Given the description of an element on the screen output the (x, y) to click on. 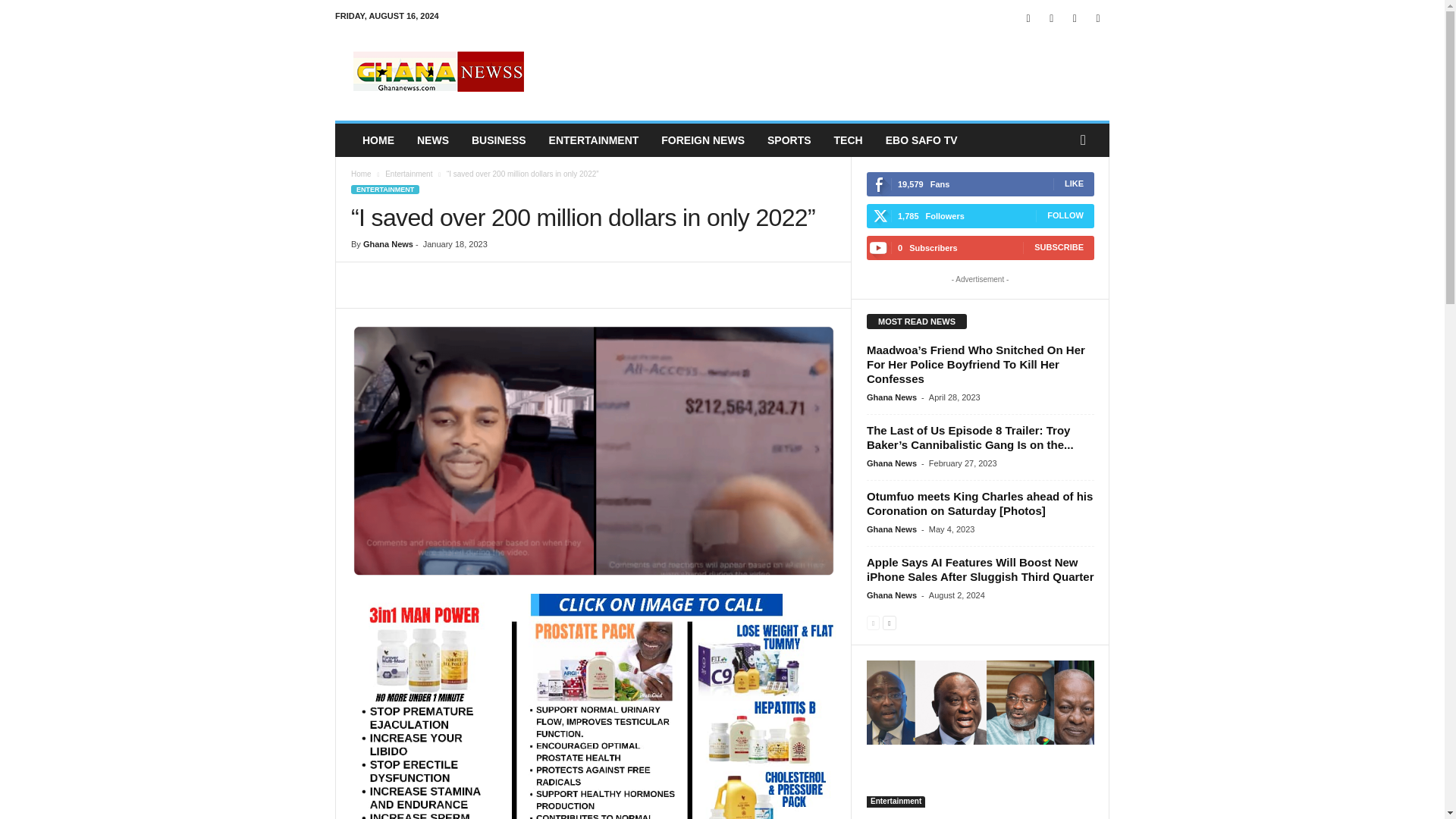
HOME (378, 140)
View all posts in Entertainment (408, 173)
TECH (848, 140)
Ghana News (387, 243)
Home (360, 173)
ENTERTAINMENT (593, 140)
FOREIGN NEWS (702, 140)
ENTERTAINMENT (384, 189)
Entertainment (408, 173)
EBO SAFO TV (922, 140)
